Given the description of an element on the screen output the (x, y) to click on. 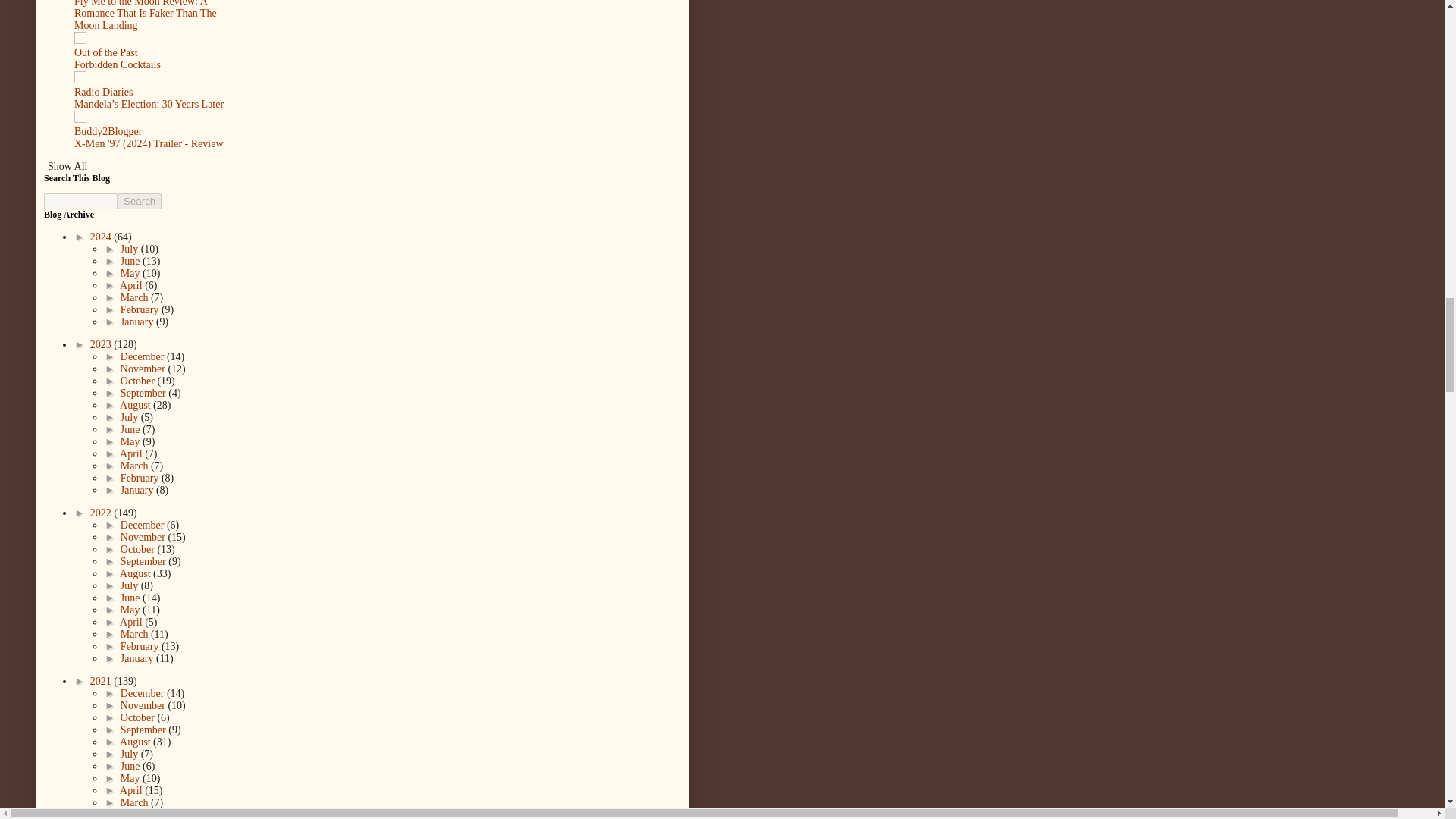
Search (139, 201)
Search (139, 201)
search (80, 201)
search (139, 201)
